Given the description of an element on the screen output the (x, y) to click on. 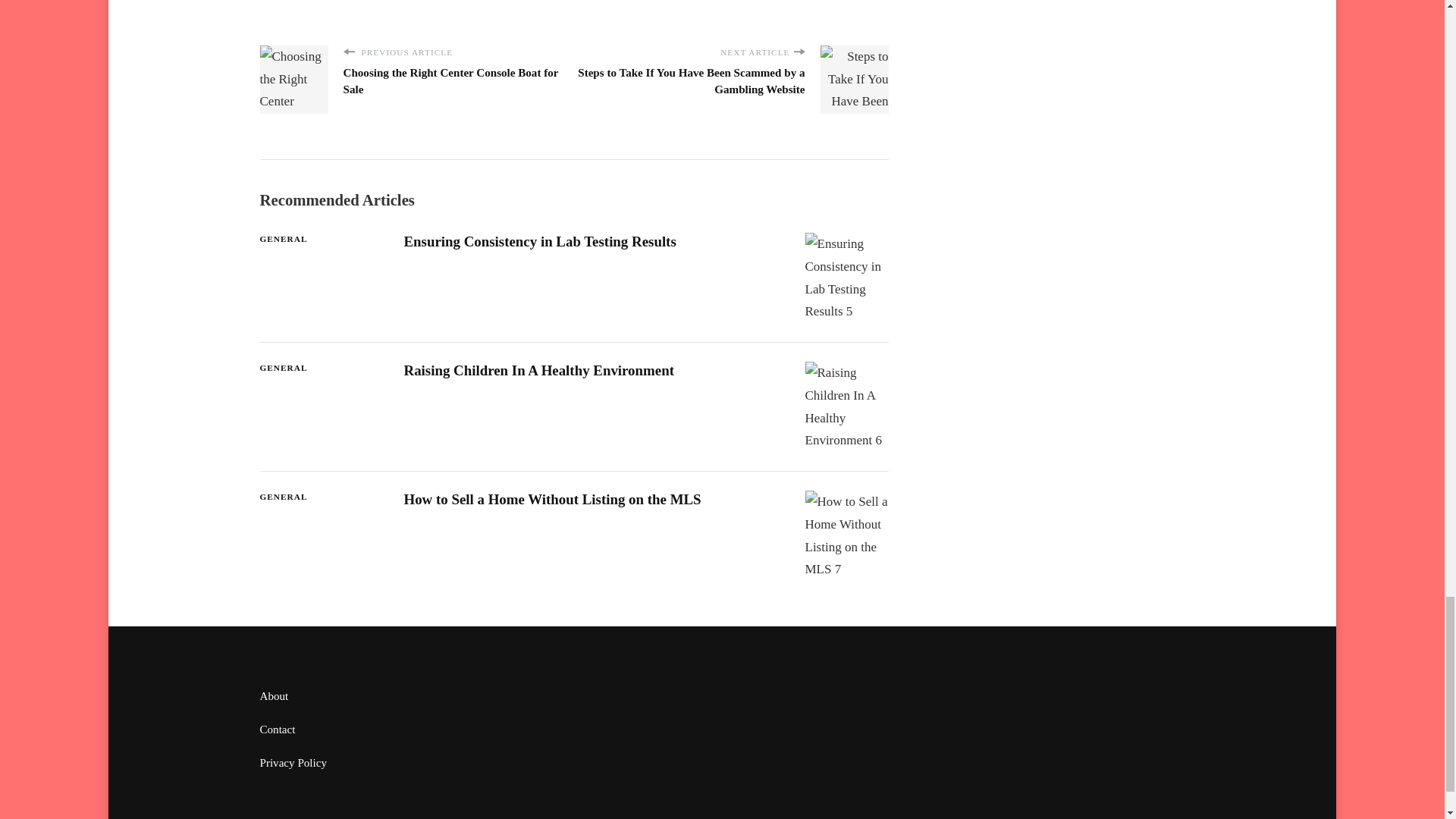
GENERAL (283, 367)
GENERAL (283, 238)
GENERAL (283, 496)
Raising Children In A Healthy Environment (537, 370)
How to Sell a Home Without Listing on the MLS (551, 498)
Ensuring Consistency in Lab Testing Results (539, 241)
